Given the description of an element on the screen output the (x, y) to click on. 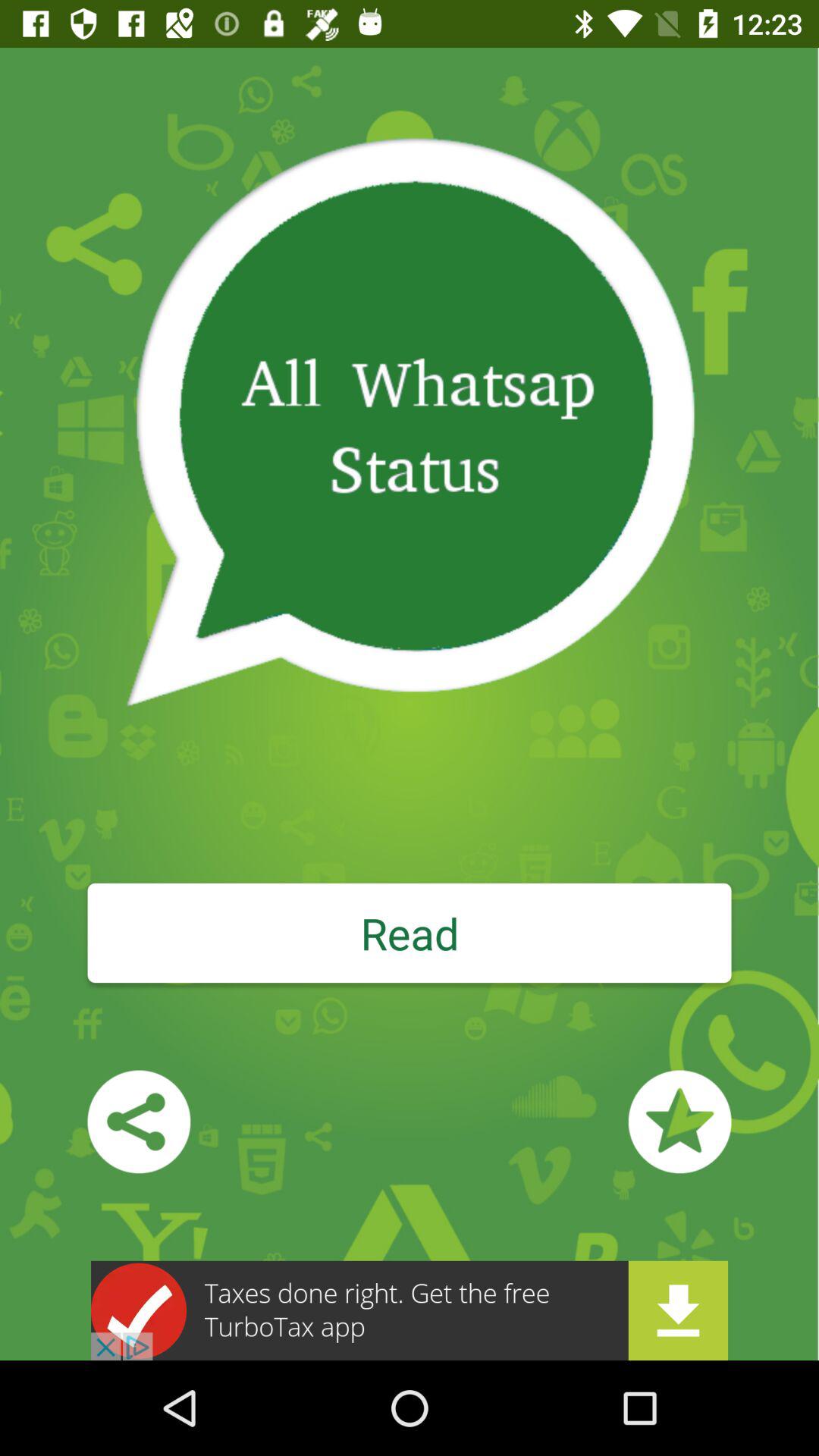
favorite item (679, 1121)
